Given the description of an element on the screen output the (x, y) to click on. 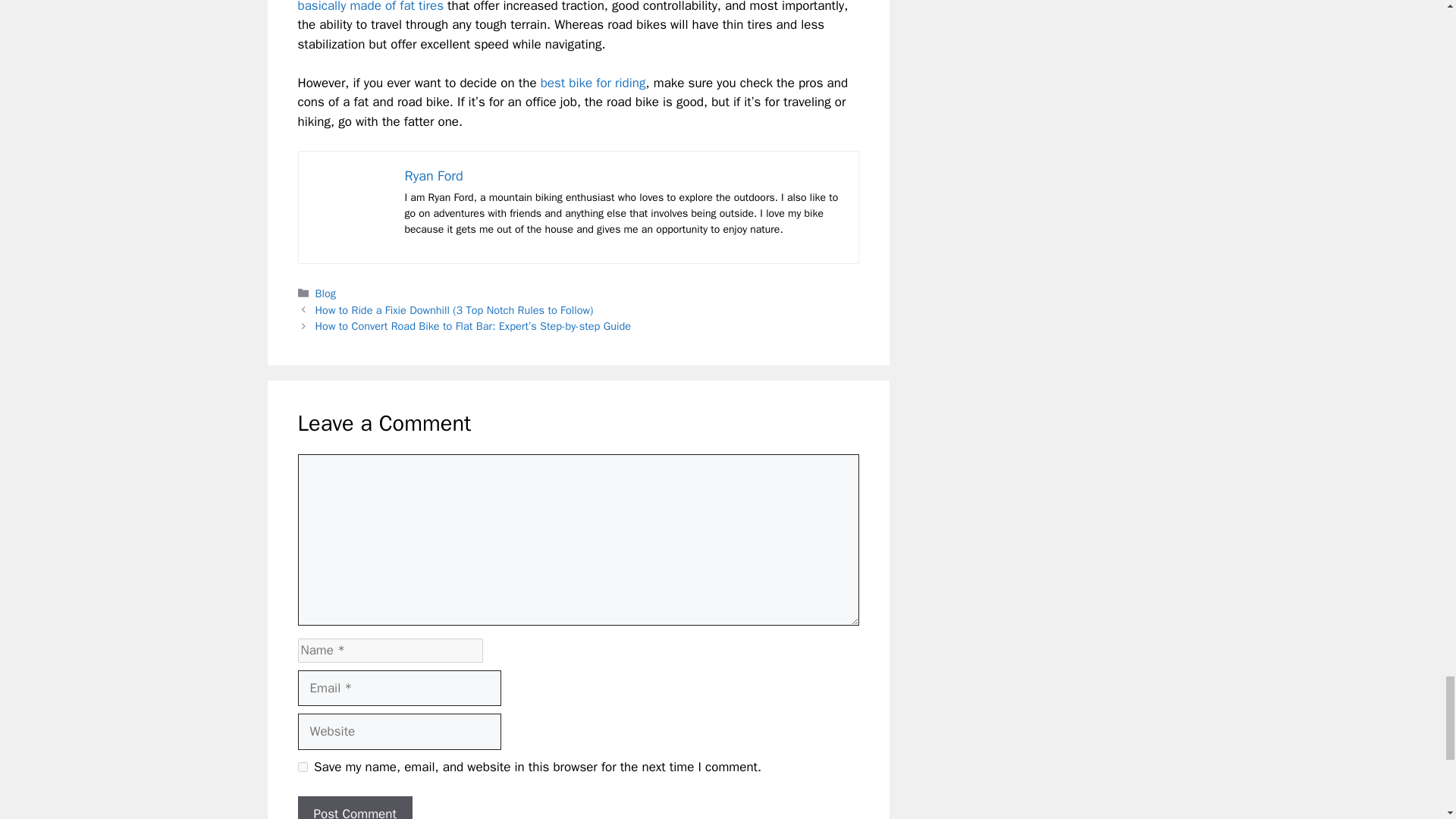
best bike for riding (593, 82)
Blog (325, 293)
Post Comment (354, 807)
fat bike is basically made of fat tires (556, 6)
Post Comment (354, 807)
yes (302, 767)
Ryan Ford (433, 175)
